Given the description of an element on the screen output the (x, y) to click on. 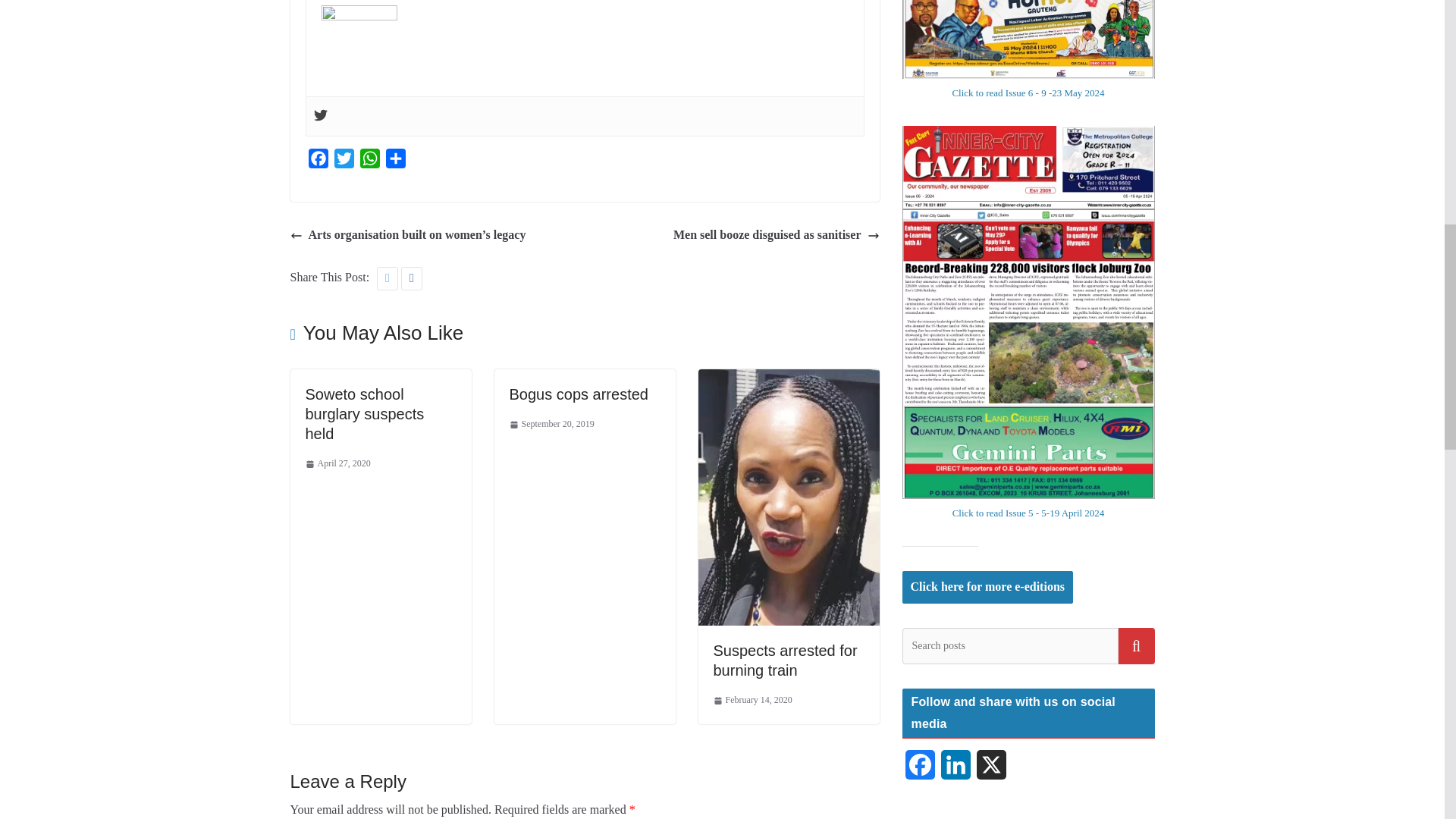
11:43 pm (336, 463)
Suspects arrested for burning train (785, 660)
April 27, 2020 (336, 463)
Men sell booze disguised as sanitiser (775, 235)
Suspects arrested for burning train (788, 379)
WhatsApp (368, 161)
Share (394, 161)
Bogus cops arrested (578, 393)
Facebook (317, 161)
Soweto school burglary suspects held (363, 413)
WhatsApp (368, 161)
Twitter (343, 161)
6:04 pm (551, 424)
February 14, 2020 (752, 700)
Twitter (343, 161)
